Given the description of an element on the screen output the (x, y) to click on. 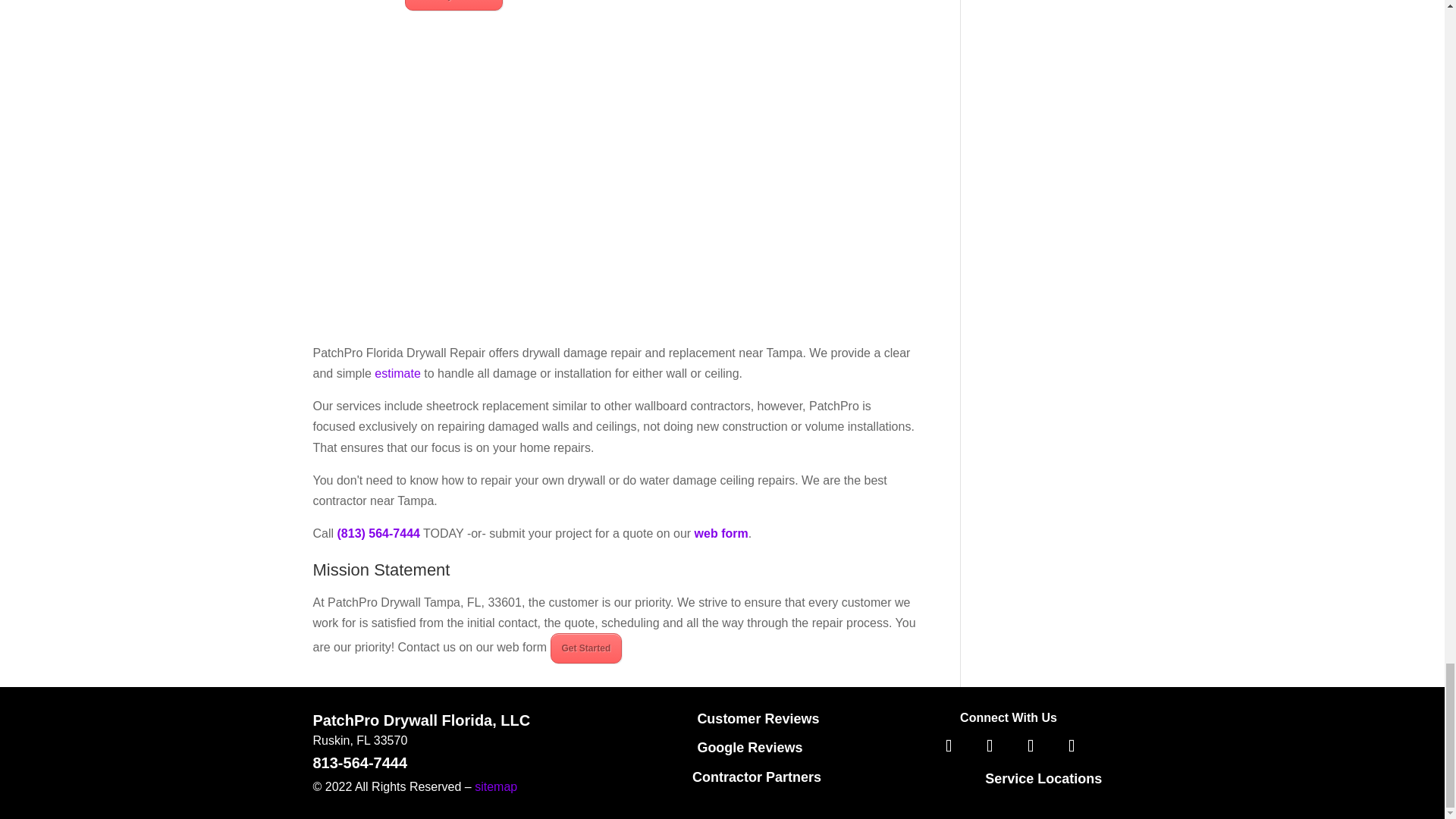
Follow on Facebook (948, 745)
Follow on Instagram (1030, 745)
web form (721, 533)
Get Started (586, 648)
Follow on X (989, 745)
estimate (397, 373)
Follow on Google (1071, 745)
Get started (342, 0)
